Given the description of an element on the screen output the (x, y) to click on. 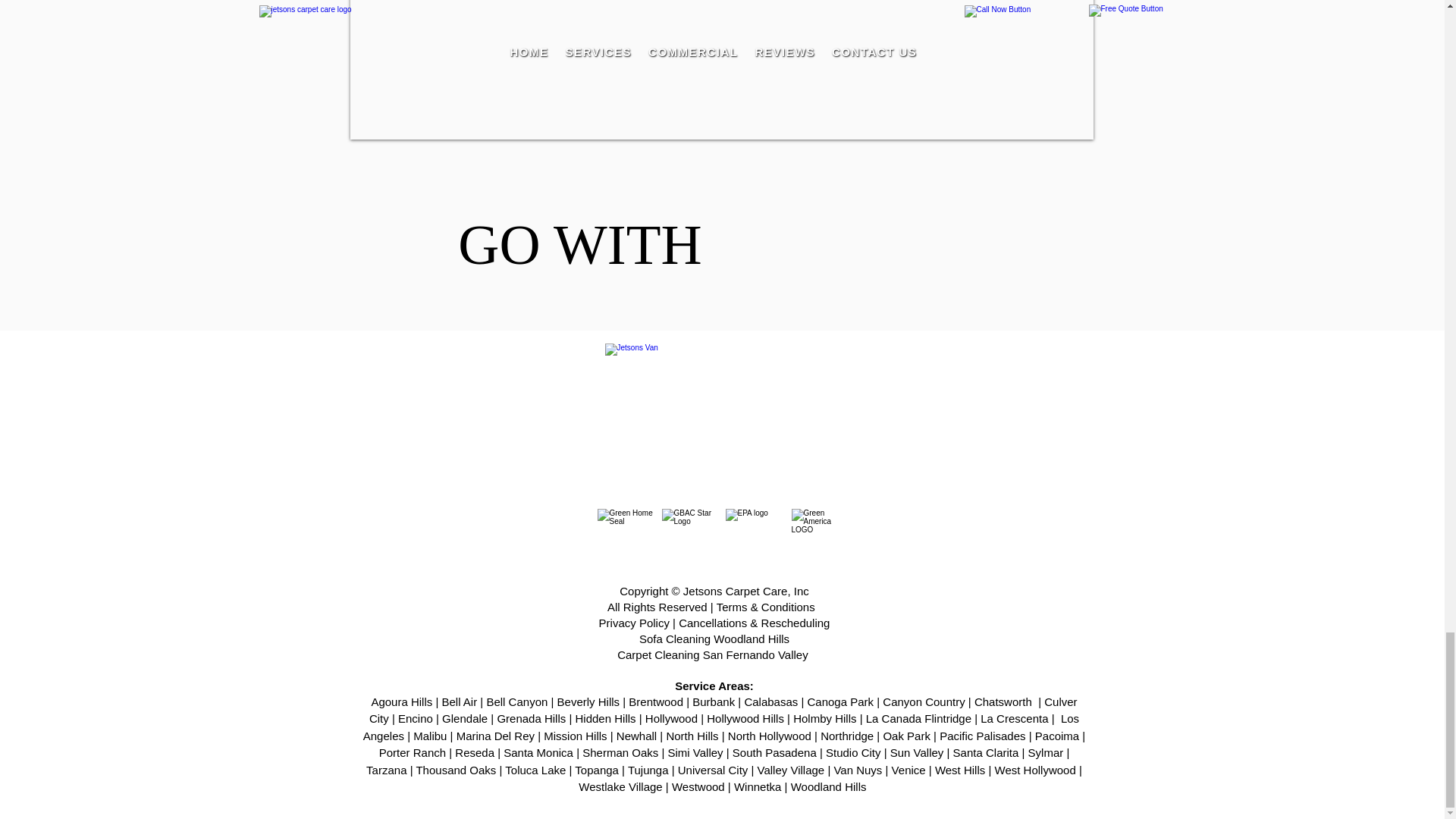
Agoura Hills (401, 701)
Glendale (464, 717)
Burbank (714, 701)
Canoga Park (839, 701)
Bell Air (459, 701)
Carpet Cleaning San Fernando Valley  (713, 654)
Culver City (723, 709)
Sofa Cleaning Woodland Hills (714, 638)
Canyon Country (922, 701)
Chatsworth (1003, 701)
Service Areas: (714, 685)
Encino (414, 717)
Beverly Hills (588, 701)
Bell Canyon (516, 701)
Brentwood (655, 701)
